Given the description of an element on the screen output the (x, y) to click on. 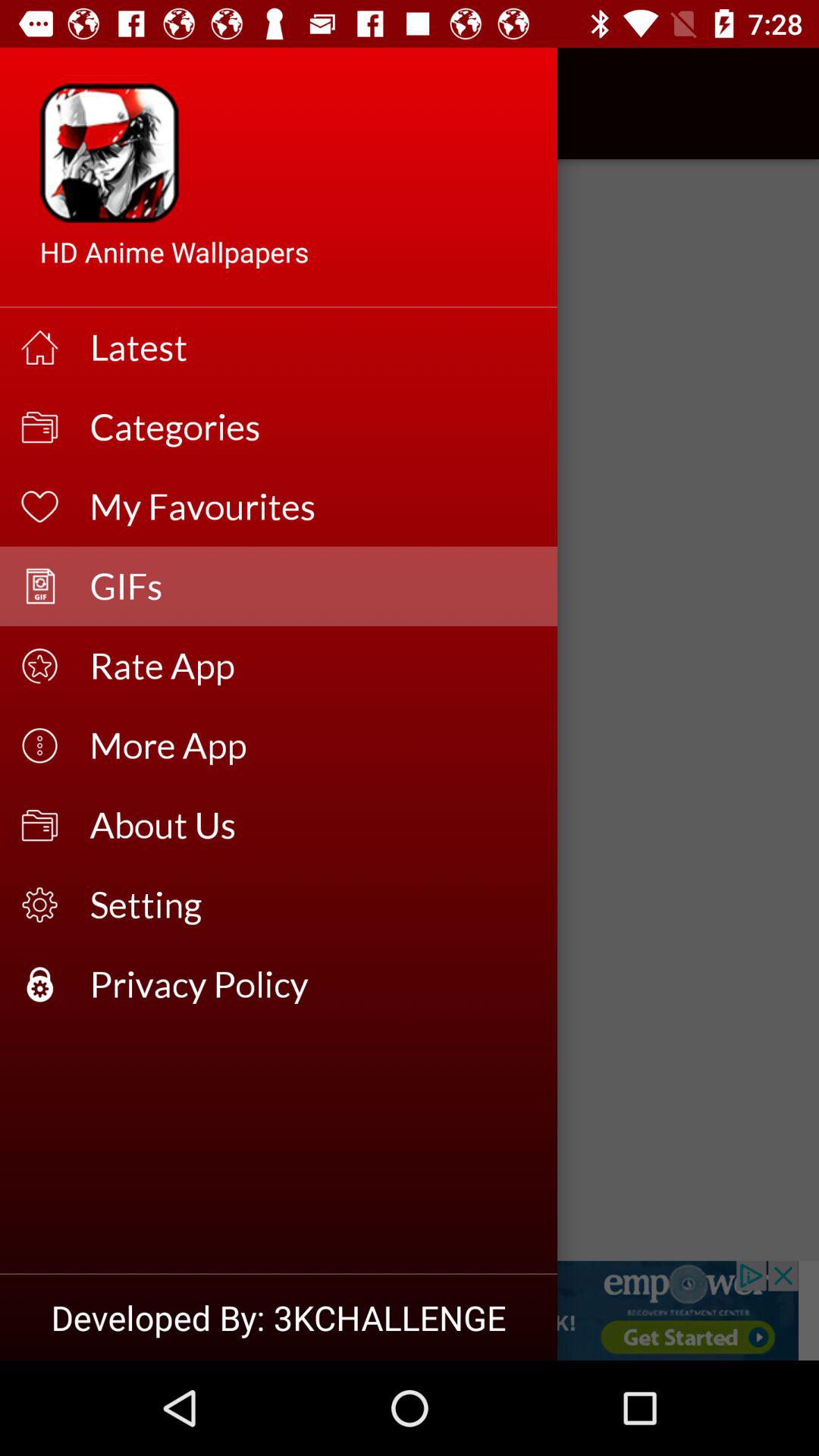
scroll until the my favourites (313, 506)
